Given the description of an element on the screen output the (x, y) to click on. 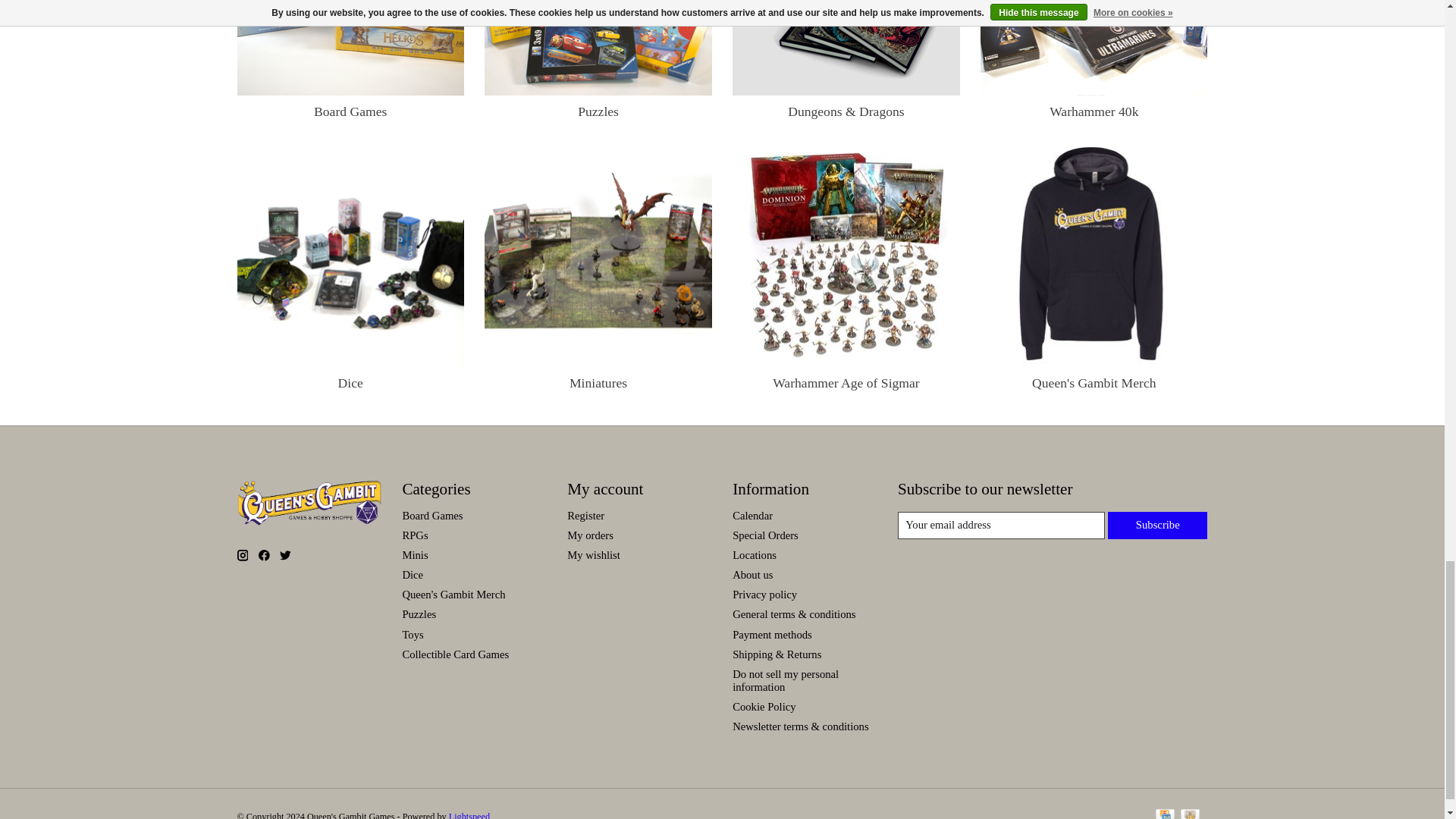
Puzzles (597, 47)
Register (585, 515)
Dice (350, 253)
My orders (589, 535)
Queen's Gambit Merch (1093, 253)
Miniatures (597, 253)
Warhammer 40k (1093, 47)
Warhammer  Age of Sigmar (845, 253)
Board Games (350, 47)
My wishlist (593, 554)
Calendar (752, 515)
